Given the description of an element on the screen output the (x, y) to click on. 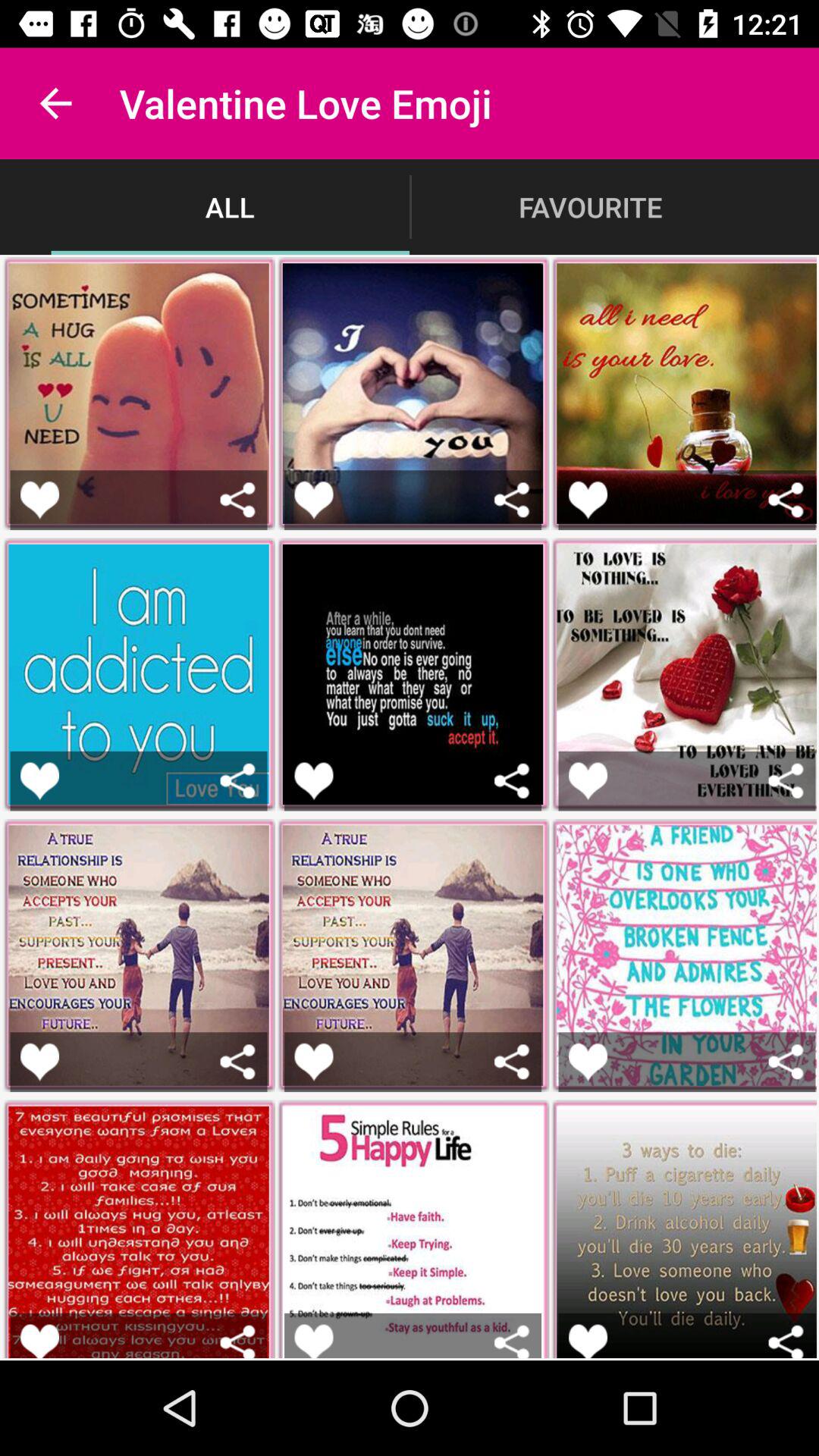
share the picture (785, 780)
